Given the description of an element on the screen output the (x, y) to click on. 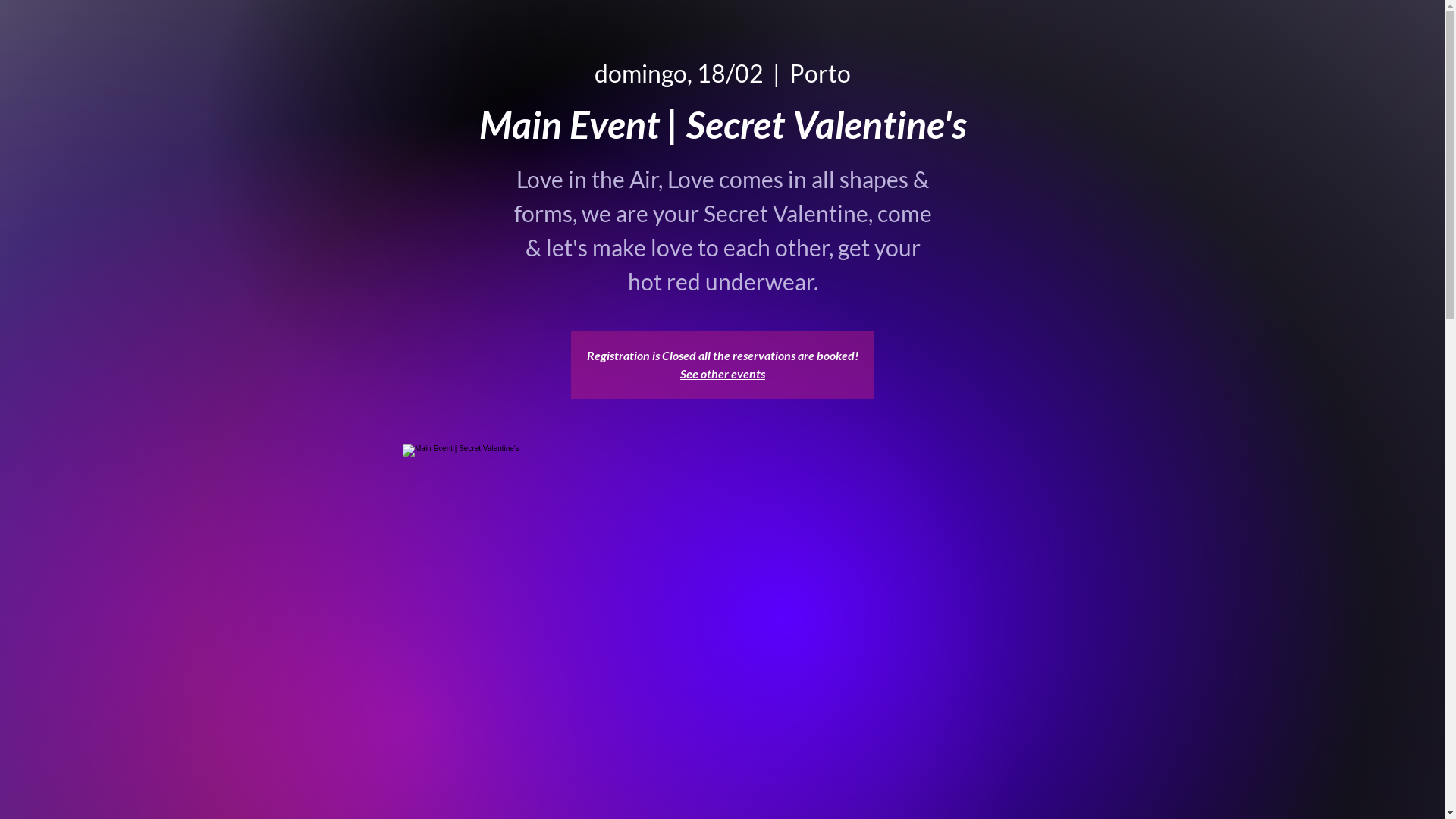
See other events Element type: text (722, 373)
